Given the description of an element on the screen output the (x, y) to click on. 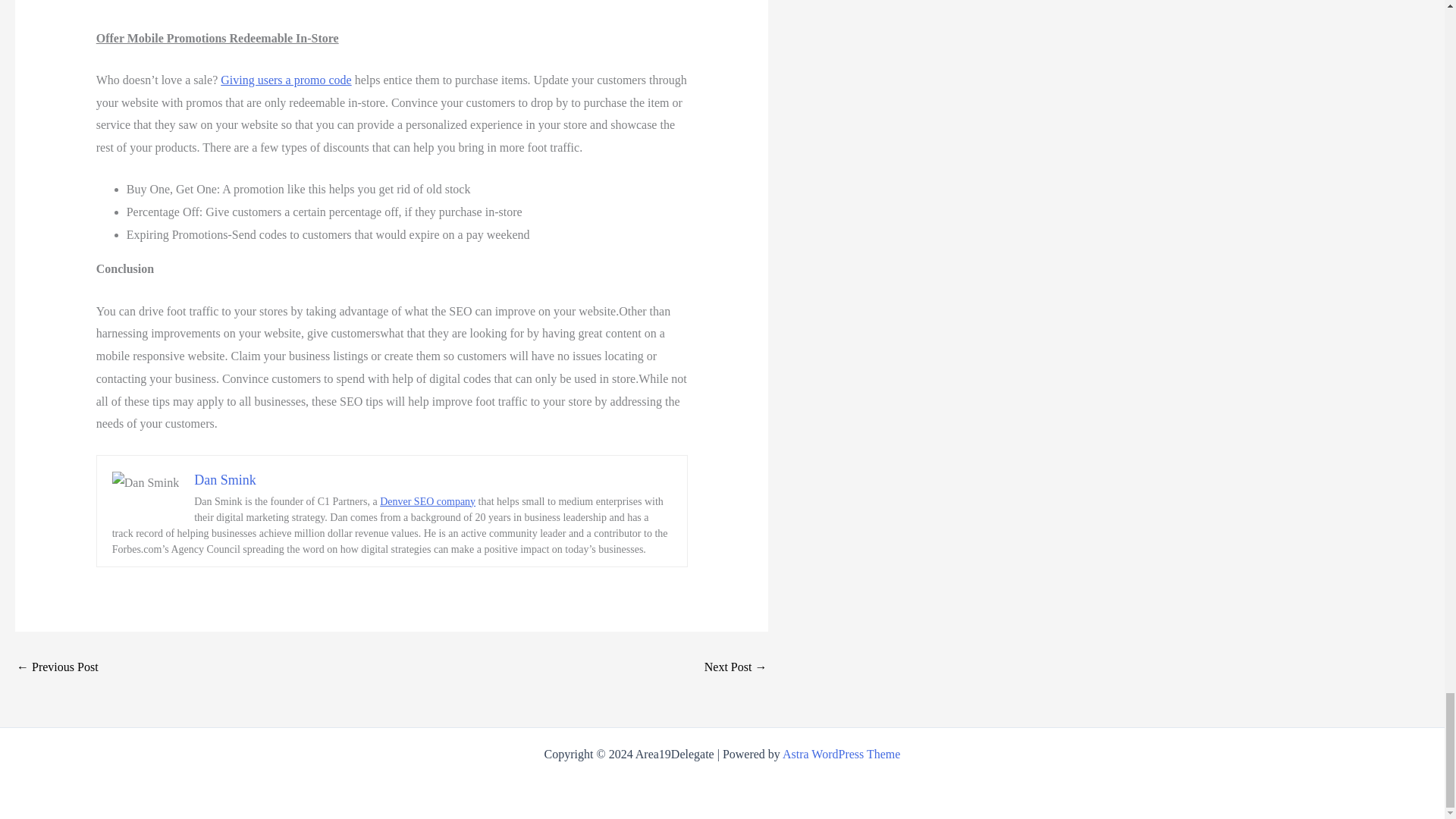
Giving users a promo code (285, 79)
Dan Smink (224, 479)
Denver SEO company (428, 501)
